Given the description of an element on the screen output the (x, y) to click on. 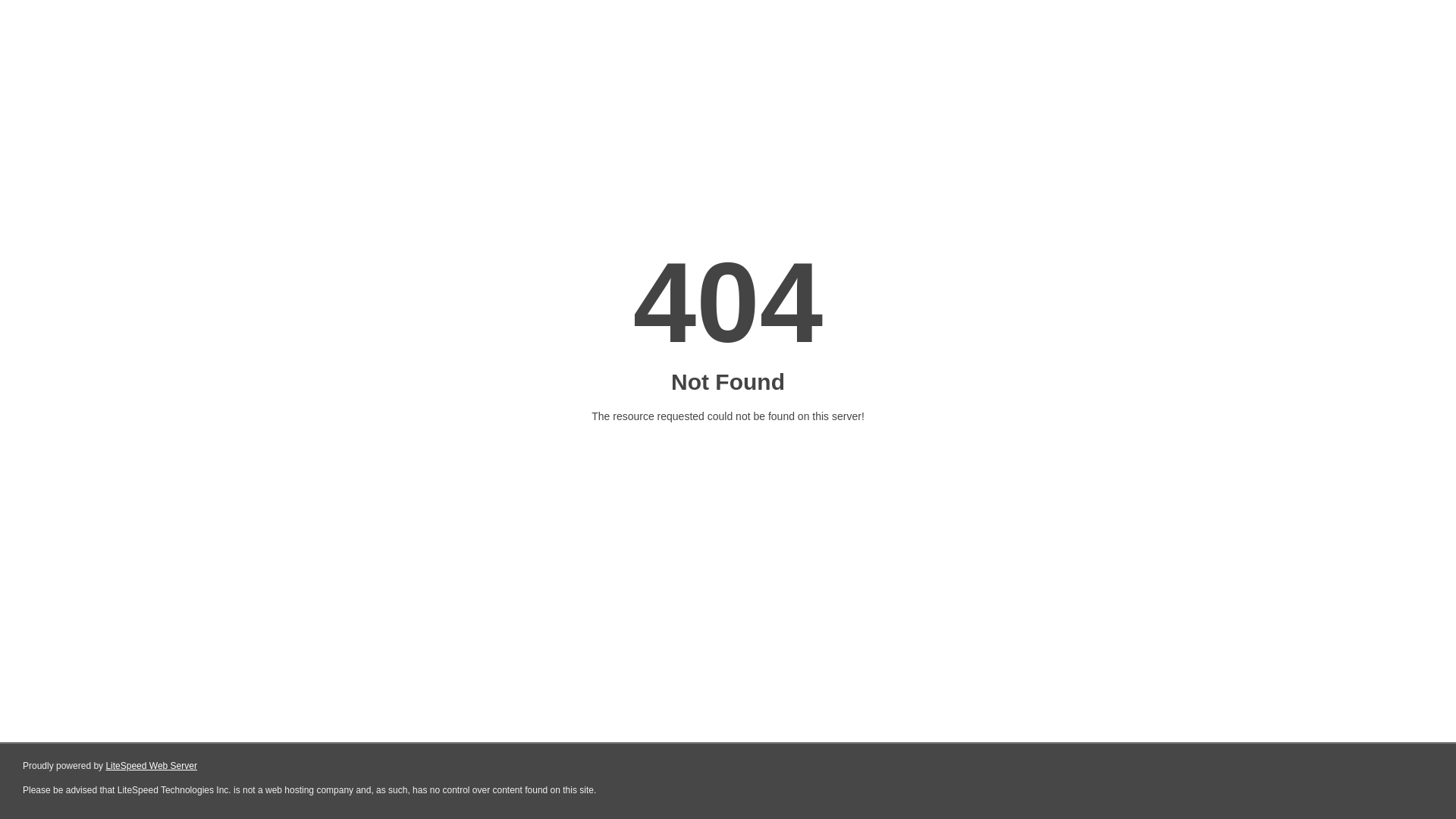
LiteSpeed Web Server Element type: text (151, 765)
